Given the description of an element on the screen output the (x, y) to click on. 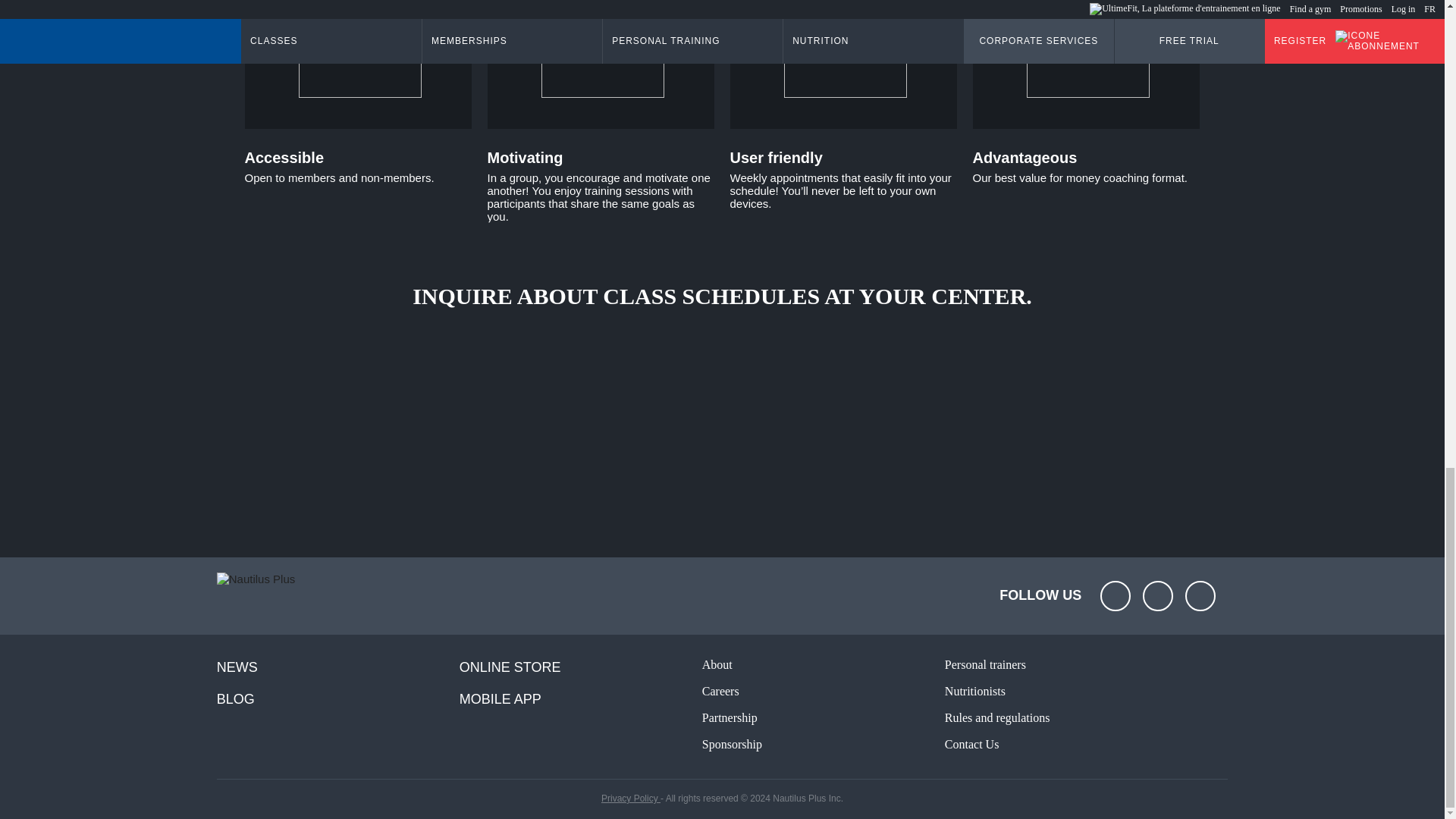
NEWS (338, 667)
